Given the description of an element on the screen output the (x, y) to click on. 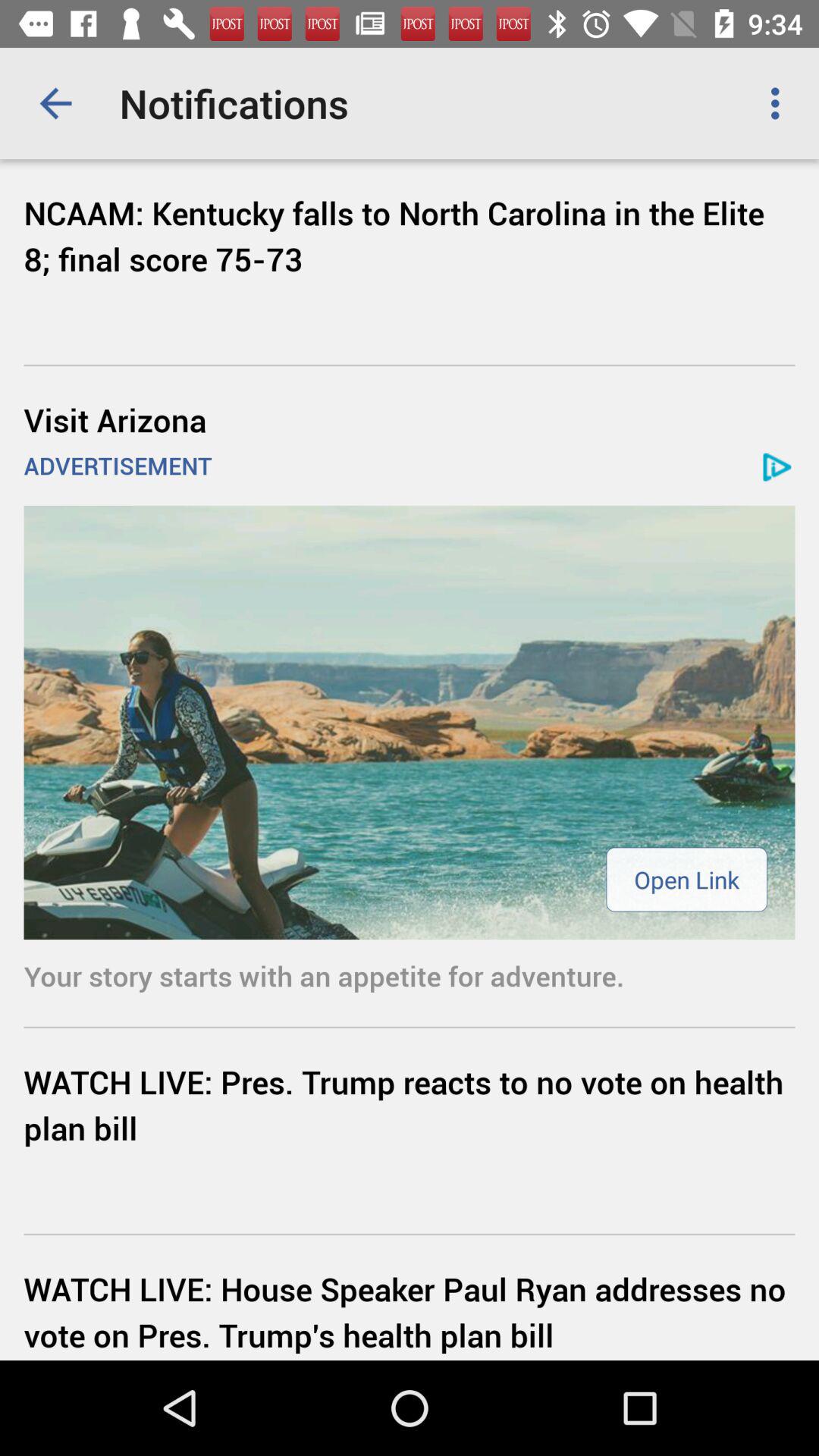
launch icon above the your story starts item (409, 722)
